Given the description of an element on the screen output the (x, y) to click on. 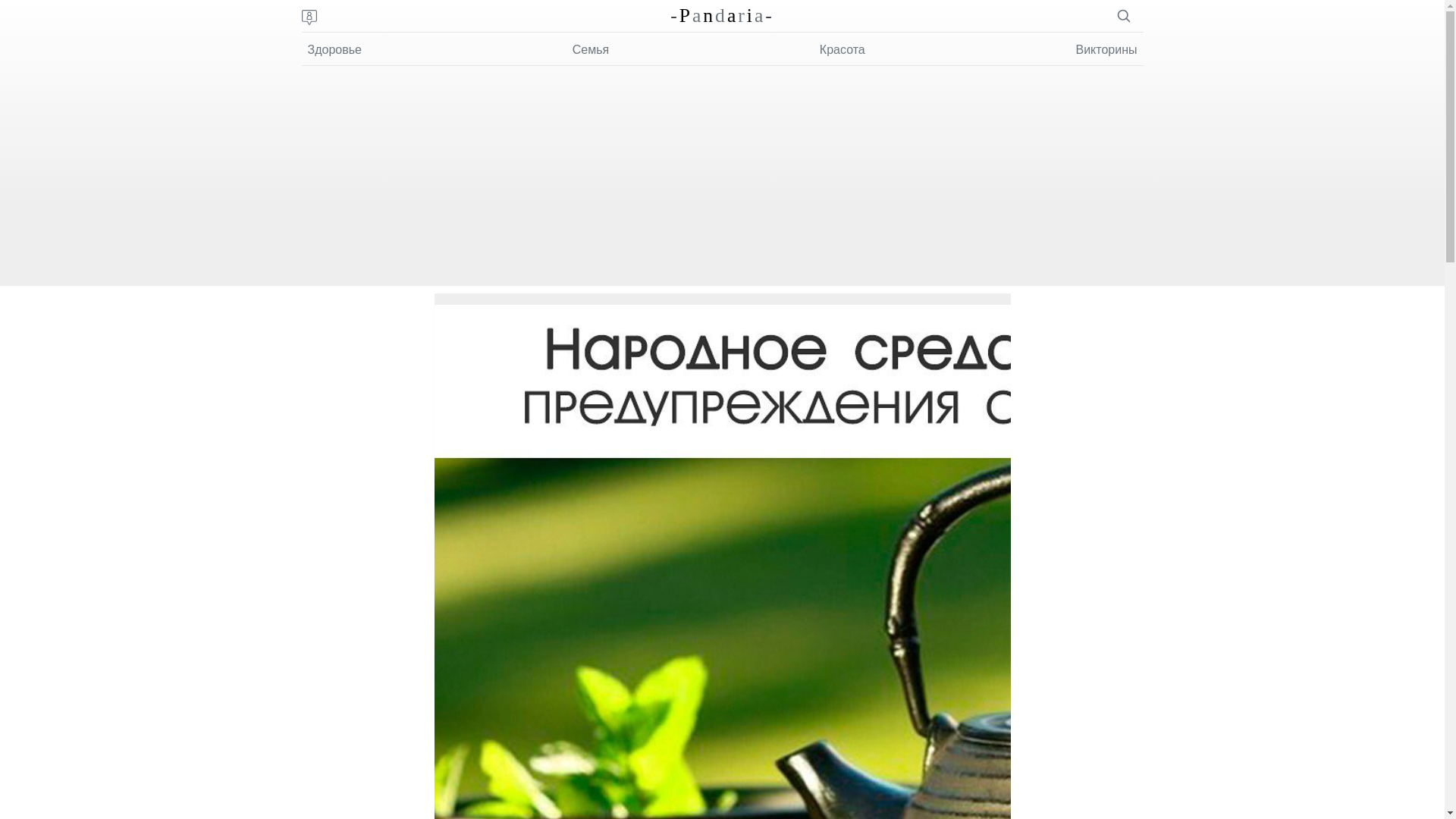
-Pandaria- Element type: text (722, 15)
Advertisement Element type: hover (722, 179)
